Given the description of an element on the screen output the (x, y) to click on. 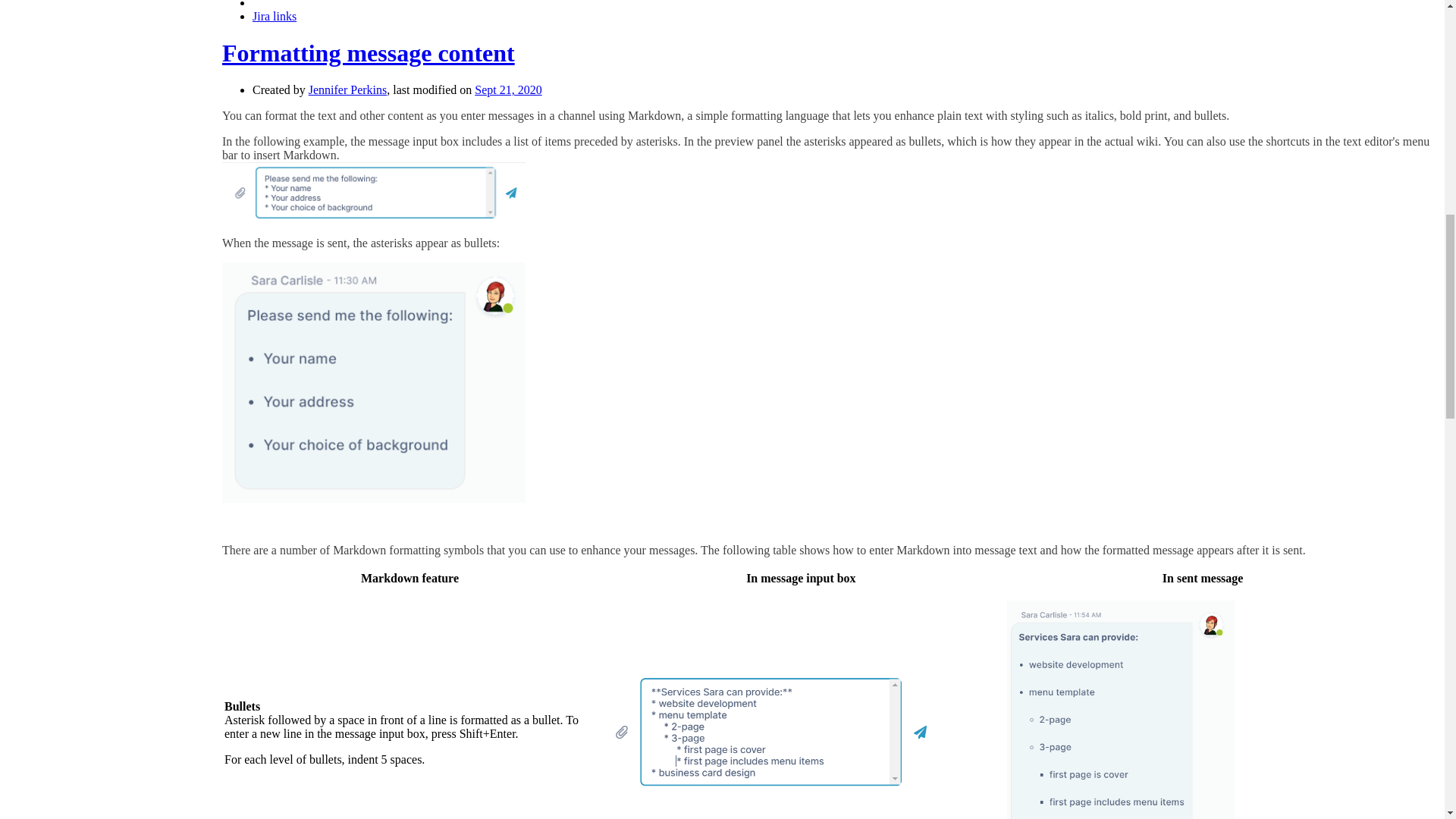
Jira links (274, 15)
